Given the description of an element on the screen output the (x, y) to click on. 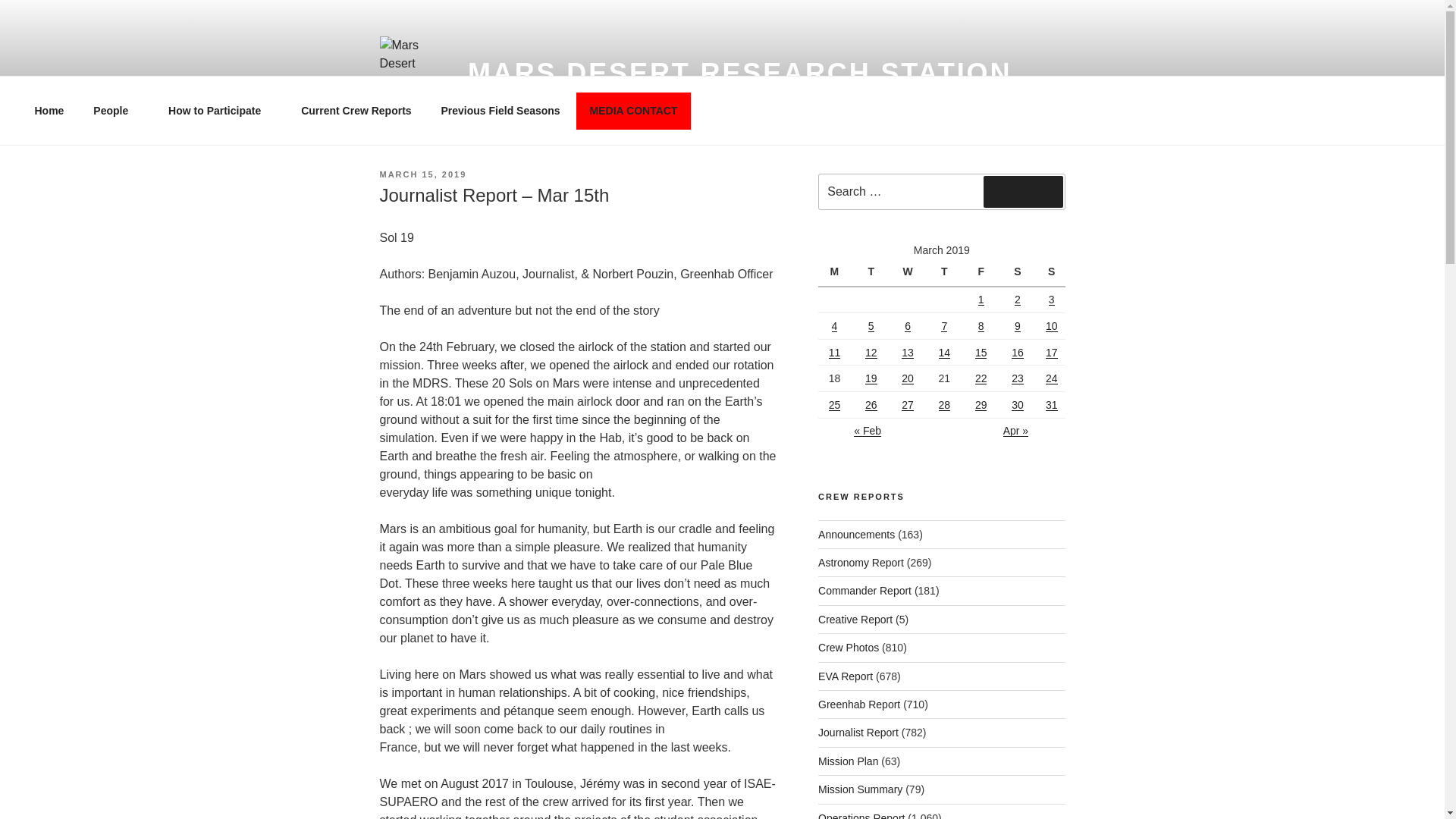
10 (1051, 326)
Thursday (945, 272)
15 (981, 351)
12 (870, 351)
16 (1017, 351)
Friday (982, 272)
Sunday (1051, 272)
13 (907, 351)
14 (944, 351)
MARCH 15, 2019 (421, 174)
